Given the description of an element on the screen output the (x, y) to click on. 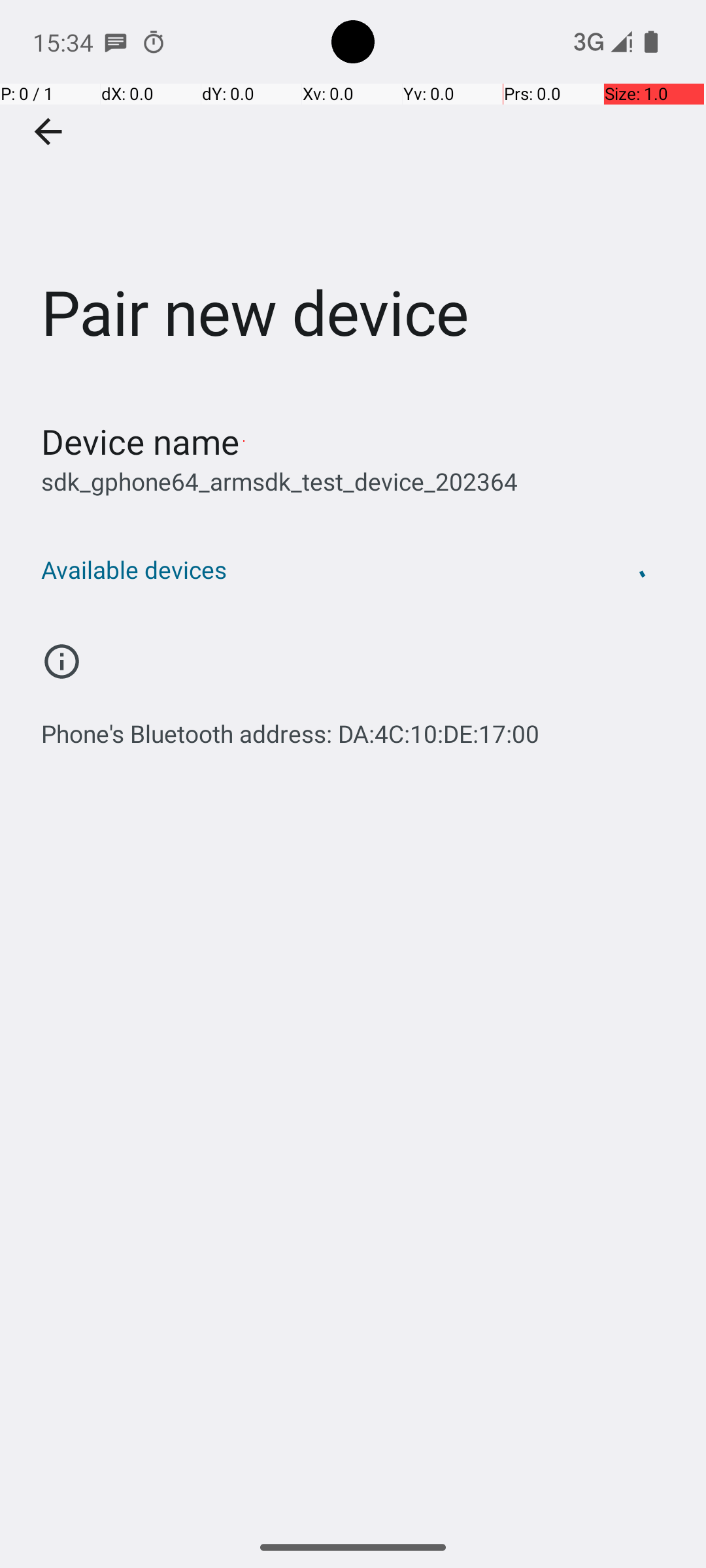
sdk_gphone64_armsdk_test_device_202364 Element type: android.widget.TextView (279, 480)
